Given the description of an element on the screen output the (x, y) to click on. 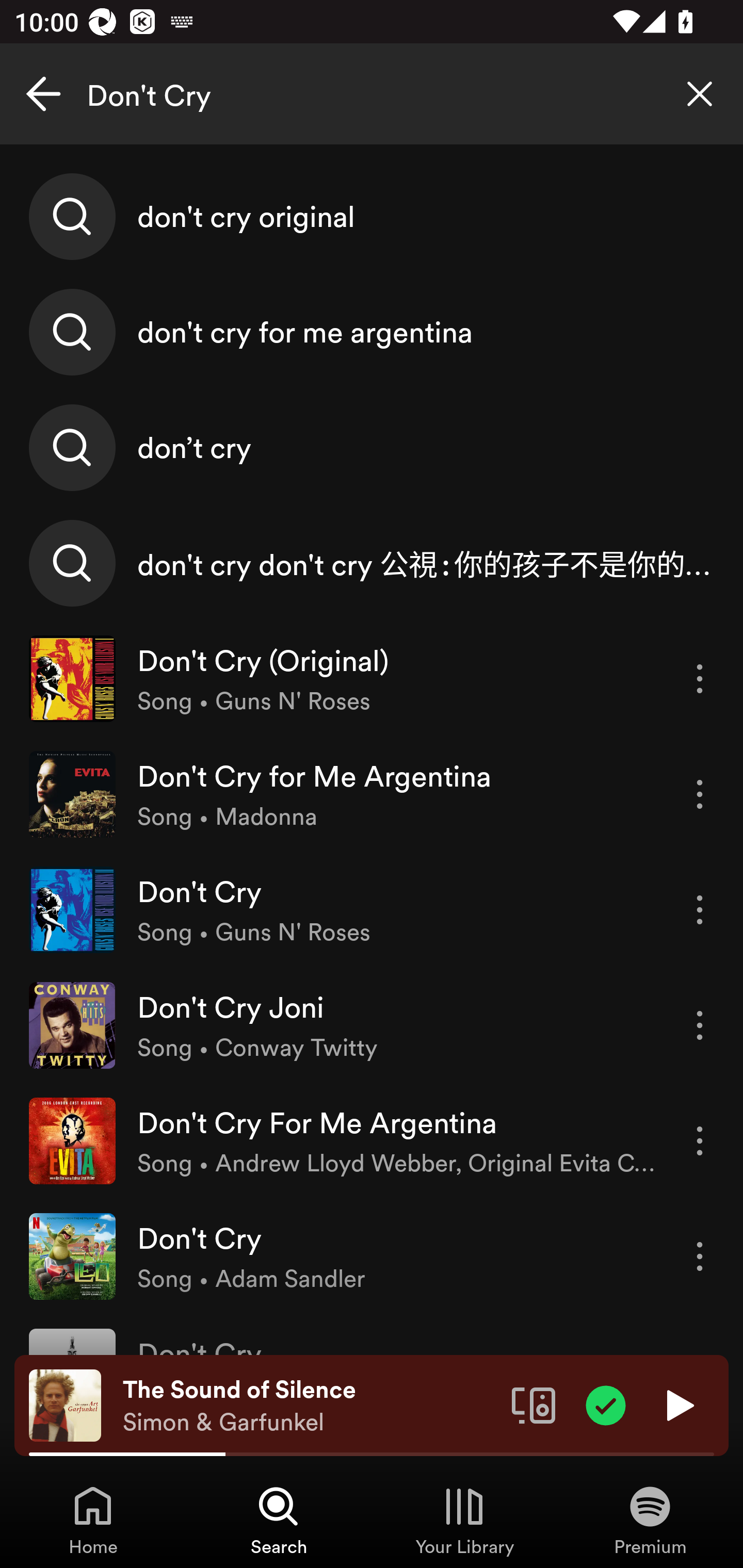
Don't Cry (371, 93)
Cancel (43, 93)
Clear search query (699, 93)
don't cry original (371, 216)
don't cry for me argentina (371, 332)
don’t cry (371, 447)
don't cry don't cry 公視：你的孩子不是你的孩子 主題曲 (371, 562)
More options for song Don't Cry (Original) (699, 678)
More options for song Don't Cry for Me Argentina (699, 794)
More options for song Don't Cry (699, 910)
More options for song Don't Cry Joni (699, 1025)
More options for song Don't Cry For Me Argentina (699, 1140)
More options for song Don't Cry (699, 1256)
The Sound of Silence Simon & Garfunkel (309, 1405)
The cover art of the currently playing track (64, 1404)
Connect to a device. Opens the devices menu (533, 1404)
Item added (605, 1404)
Play (677, 1404)
Home, Tab 1 of 4 Home Home (92, 1519)
Search, Tab 2 of 4 Search Search (278, 1519)
Your Library, Tab 3 of 4 Your Library Your Library (464, 1519)
Premium, Tab 4 of 4 Premium Premium (650, 1519)
